Given the description of an element on the screen output the (x, y) to click on. 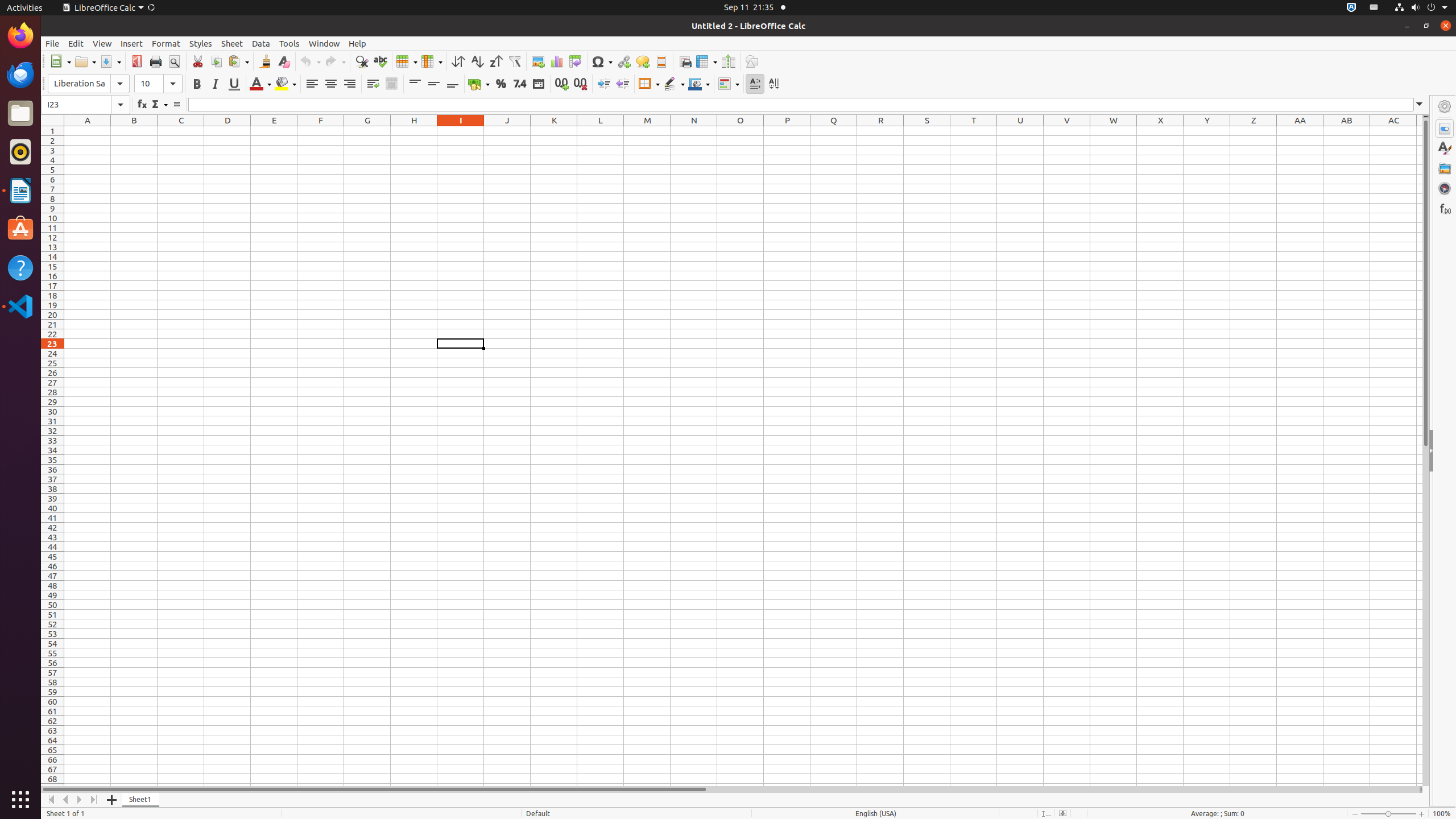
Font Size Element type: panel (158, 83)
Align Left Element type: push-button (311, 83)
Sort Descending Element type: push-button (495, 61)
Edit Element type: menu (75, 43)
Sheet Sheet1 Element type: table (743, 456)
